Given the description of an element on the screen output the (x, y) to click on. 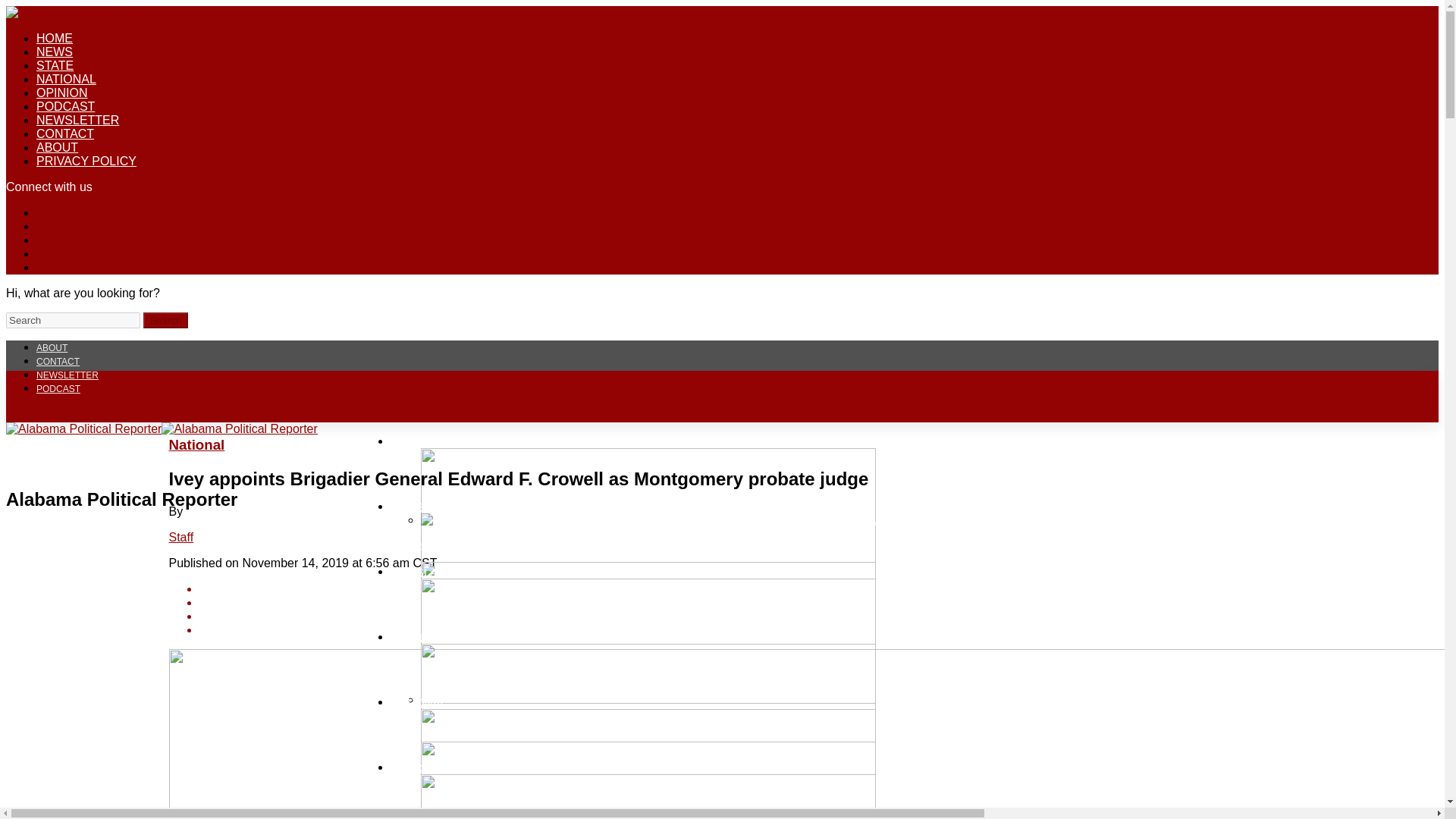
ABOUT (51, 347)
Search (164, 320)
CONTACT (58, 361)
YES, KAMALA HARRIS CAN BE ON THE BALLOT IN ALABAMA (705, 780)
PODCAST (65, 106)
ABOUT (57, 146)
OPINION (61, 92)
Share on Facebook (736, 589)
Share on Flipboard (736, 616)
Search (164, 320)
CONTACT (65, 133)
GOVERNOR (423, 505)
NEWSLETTER (77, 119)
Posts by Staff (180, 536)
PODCAST (58, 388)
